Given the description of an element on the screen output the (x, y) to click on. 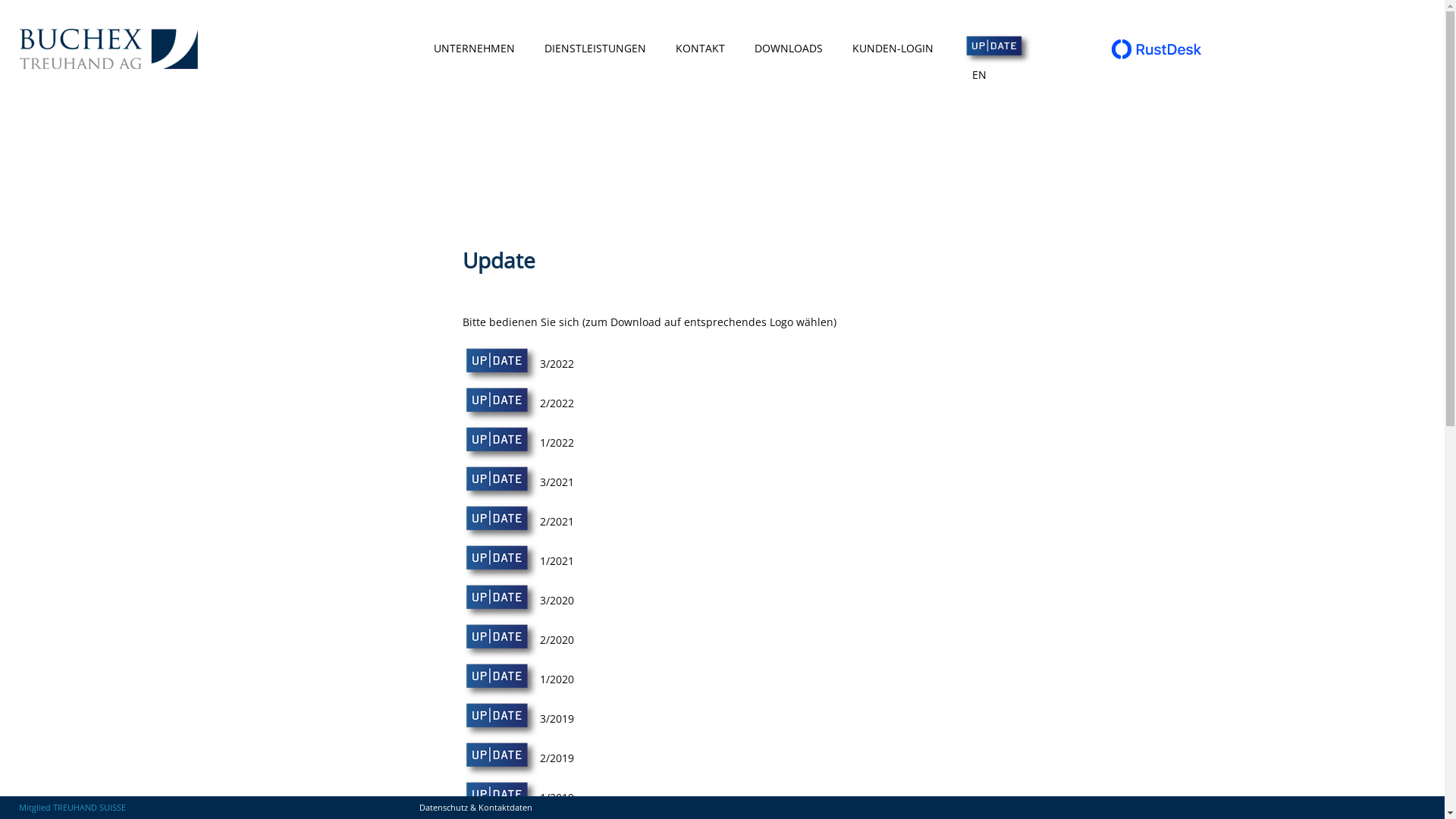
DOWNLOADS Element type: text (787, 47)
KUNDEN-LOGIN Element type: text (892, 47)
UPDATE Element type: text (983, 48)
UPDATE Element type: text (983, 47)
DOWNLOADS Element type: text (787, 48)
KONTAKT Element type: text (699, 48)
KONTAKT Element type: text (699, 47)
UNTERNEHMEN Element type: text (473, 47)
EN Element type: text (979, 74)
EN Element type: text (979, 74)
DIENSTLEISTUNGEN Element type: text (595, 48)
DIENSTLEISTUNGEN Element type: text (595, 47)
KUNDEN-LOGIN Element type: text (892, 48)
UNTERNEHMEN Element type: text (473, 48)
